Given the description of an element on the screen output the (x, y) to click on. 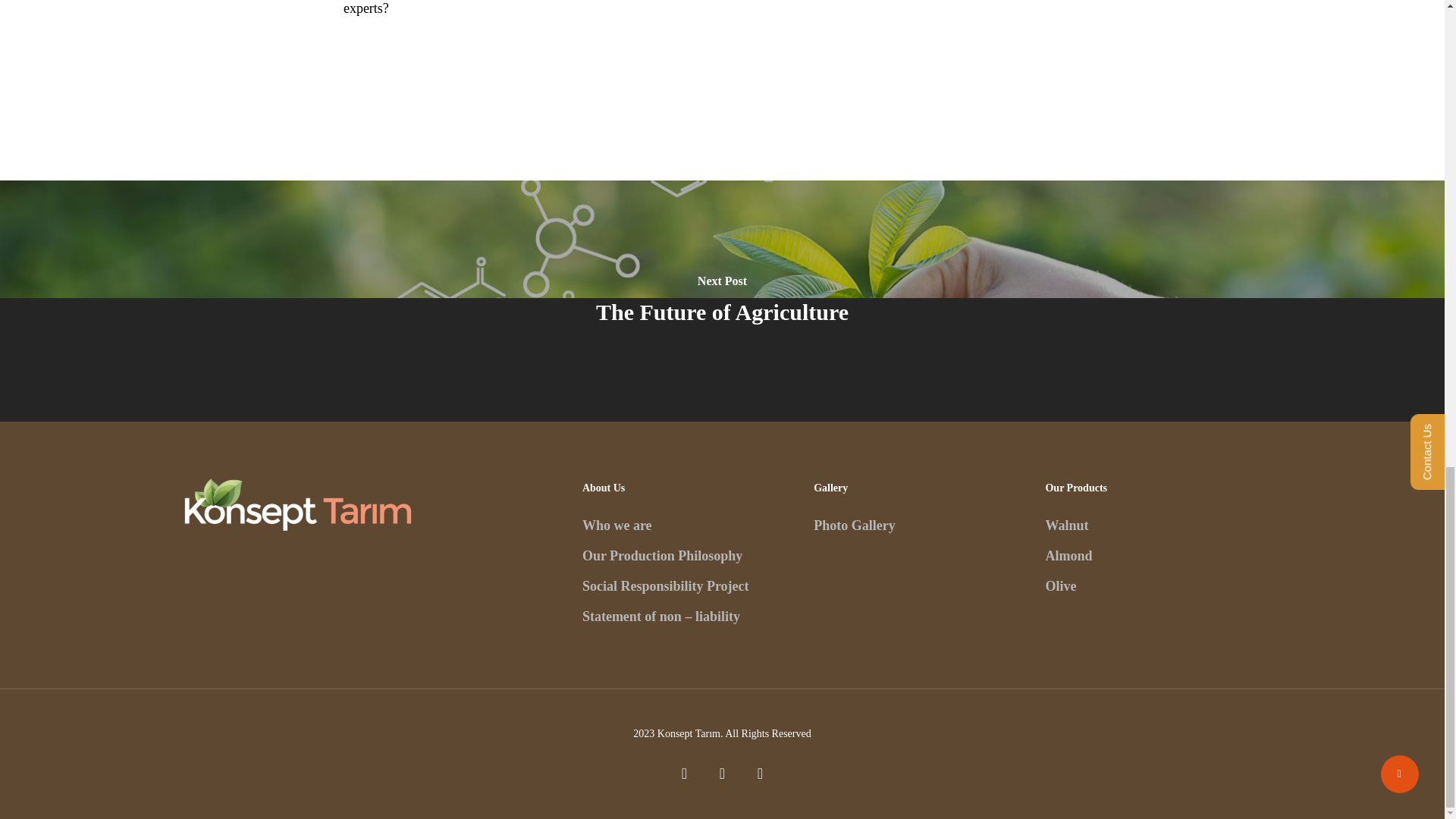
Our Production Philosophy (662, 555)
Walnut (1066, 525)
Social Responsibility Project (665, 585)
Who we are (617, 525)
Photo Gallery (854, 525)
